Given the description of an element on the screen output the (x, y) to click on. 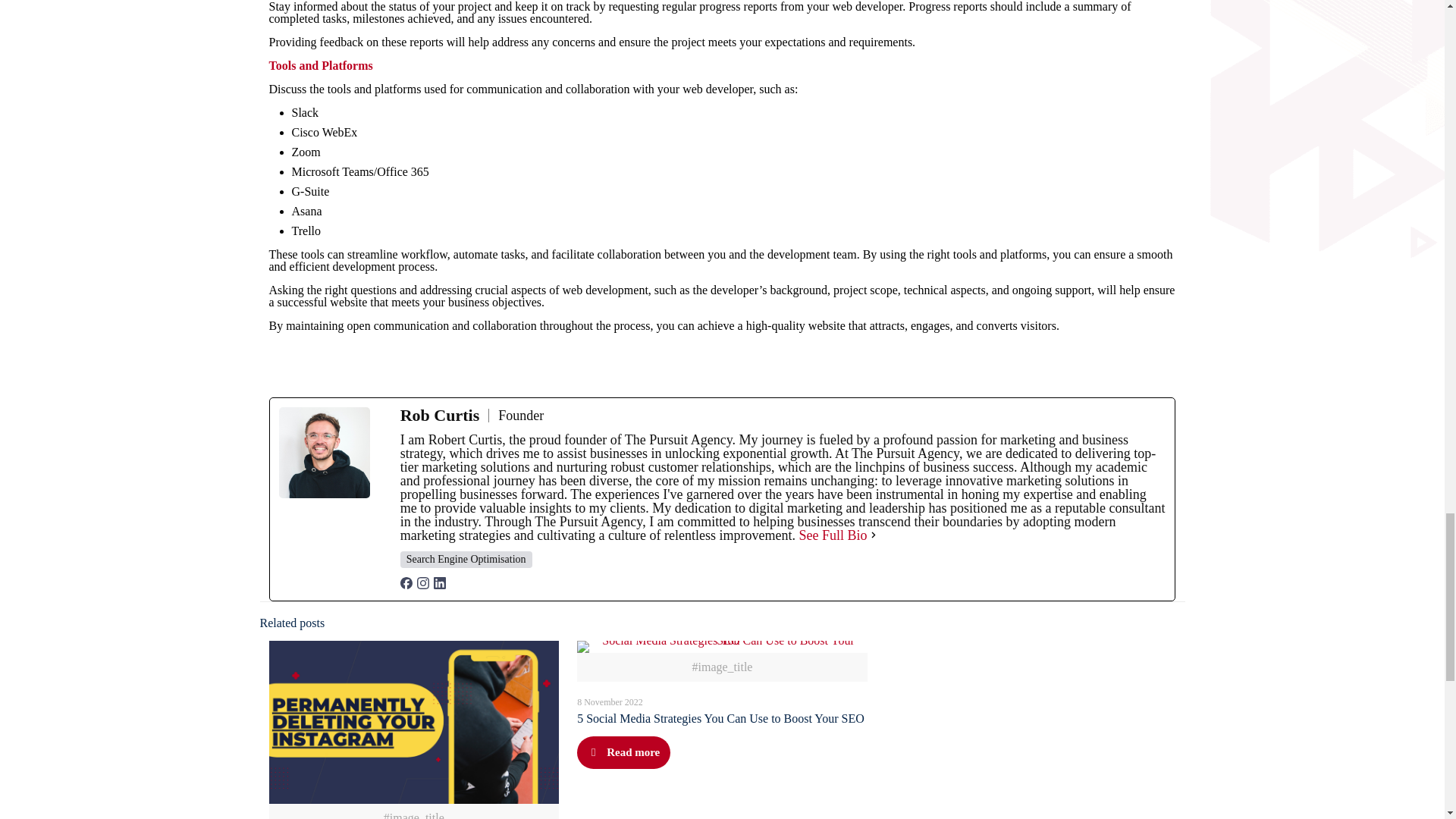
See Full Bio (833, 535)
Read more (622, 752)
5 Social Media Strategies You Can Use to Boost Your SEO (720, 717)
